Given the description of an element on the screen output the (x, y) to click on. 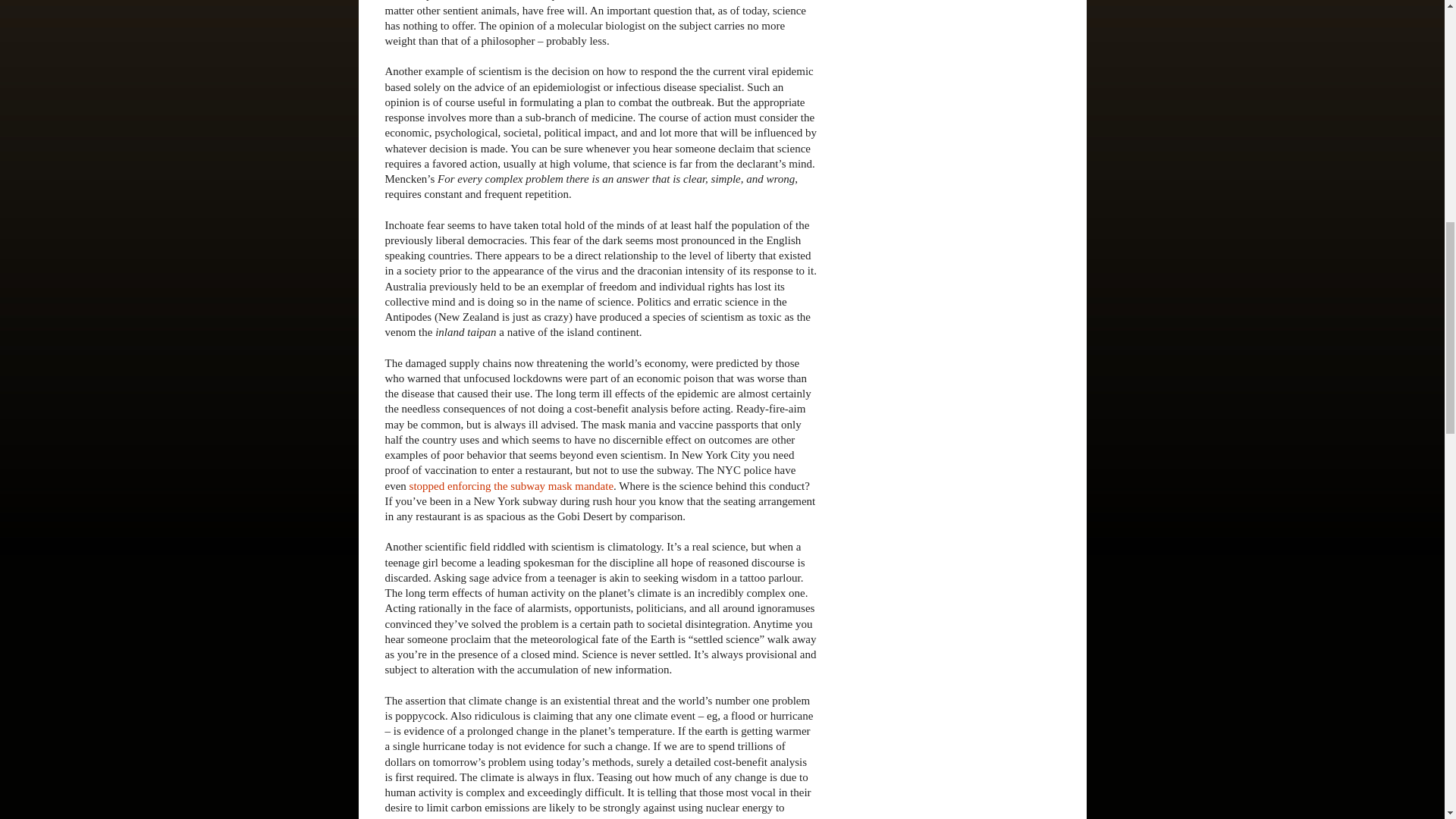
stopped enforcing the subway mask mandate (511, 485)
